Given the description of an element on the screen output the (x, y) to click on. 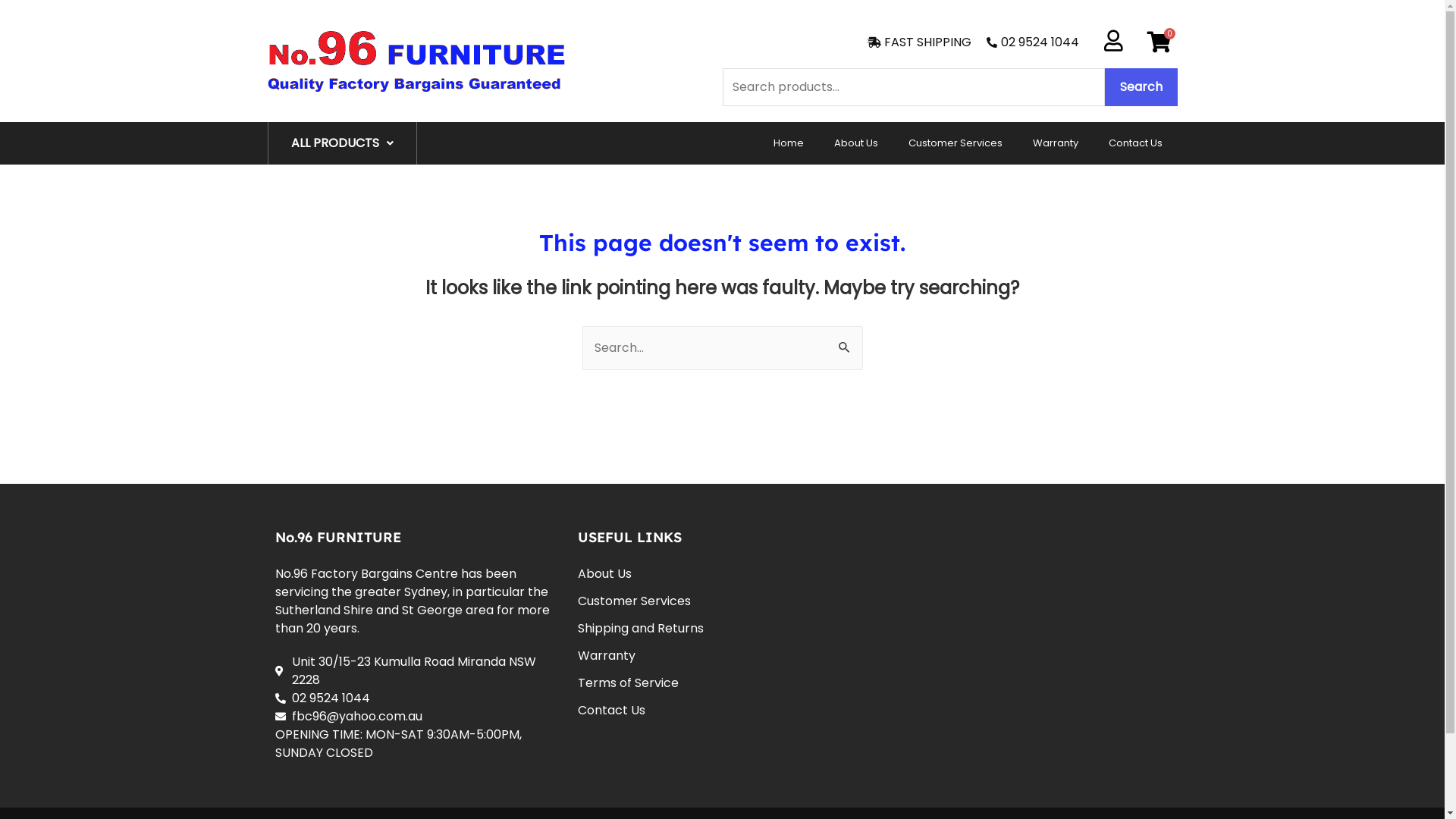
About Us Element type: text (721, 573)
About Us Element type: text (856, 143)
02 9524 1044 Element type: text (1031, 42)
Search Element type: text (1140, 87)
Contact Us Element type: text (721, 710)
Warranty Element type: text (721, 655)
Contact Us Element type: text (1135, 143)
ALL PRODUCTS Element type: text (341, 143)
Customer Services Element type: text (721, 601)
Search Element type: text (845, 341)
Shipping and Returns Element type: text (721, 628)
Home Element type: text (788, 143)
Terms of Service Element type: text (721, 682)
Warranty Element type: text (1055, 143)
Customer Services Element type: text (955, 143)
0 Element type: text (1158, 42)
